Given the description of an element on the screen output the (x, y) to click on. 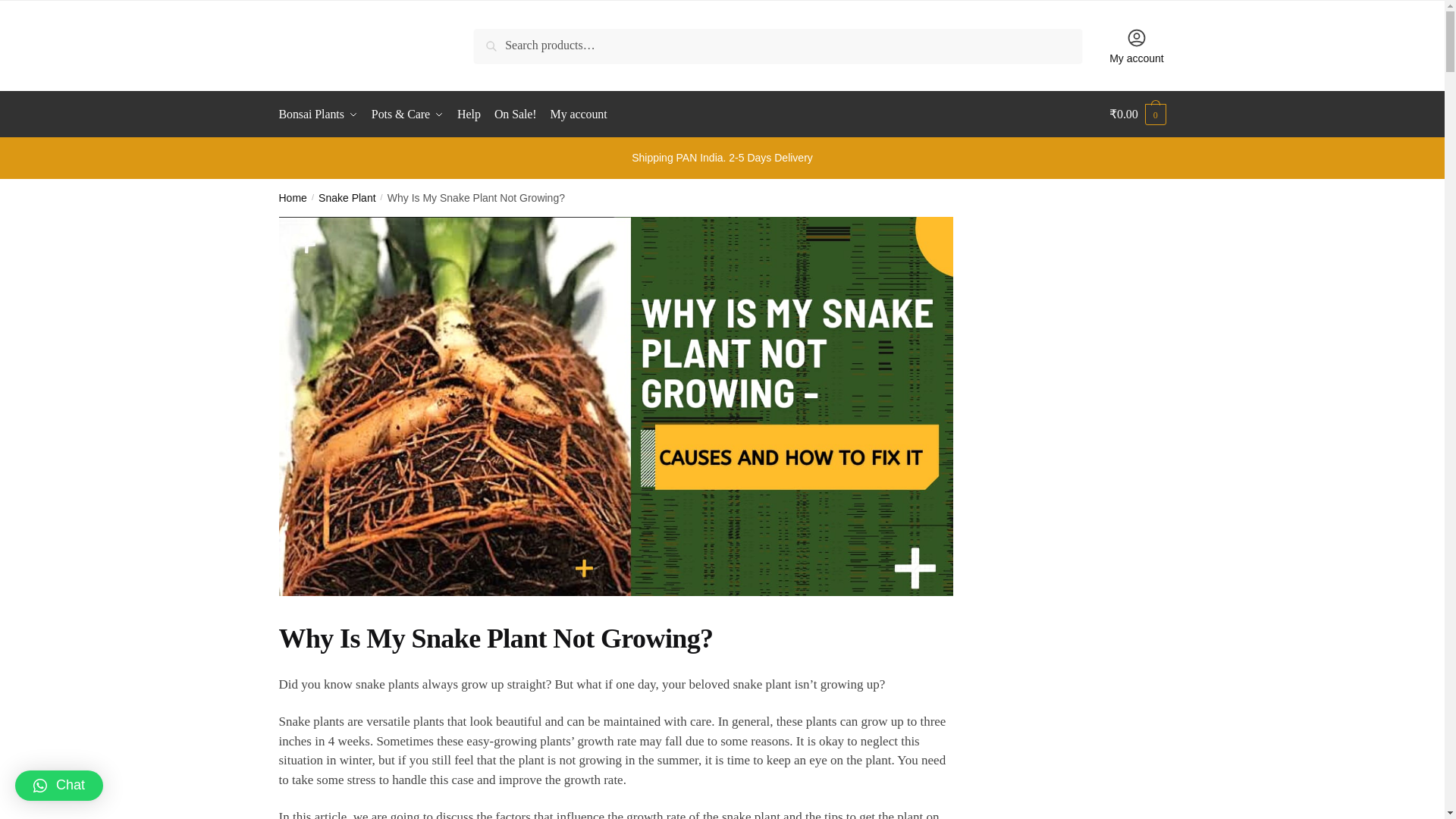
Home (293, 197)
View your shopping cart (1137, 114)
On Sale! (515, 114)
Search (495, 38)
My account (578, 114)
Snake Plant (346, 197)
My account (1136, 45)
Bonsai Plants (322, 114)
